Given the description of an element on the screen output the (x, y) to click on. 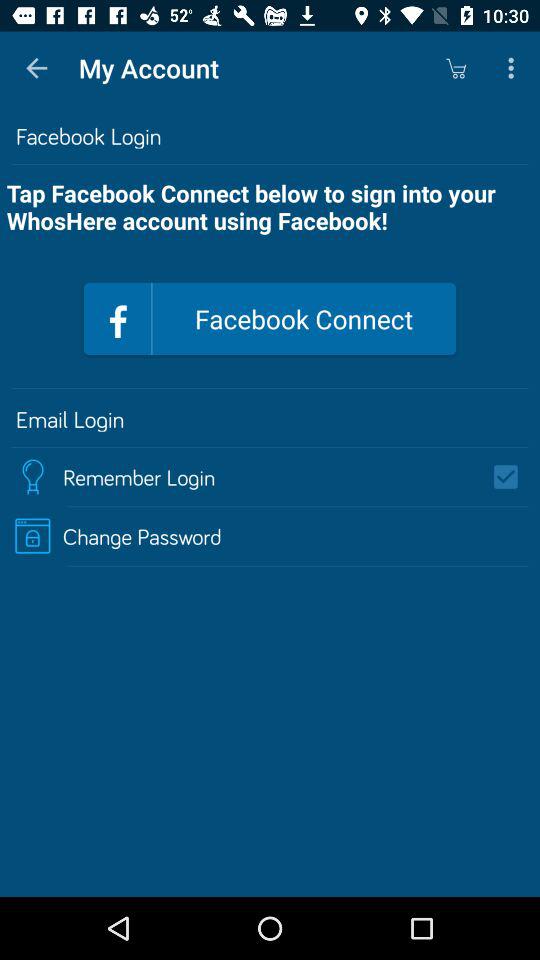
launch the icon next to my account item (455, 67)
